Given the description of an element on the screen output the (x, y) to click on. 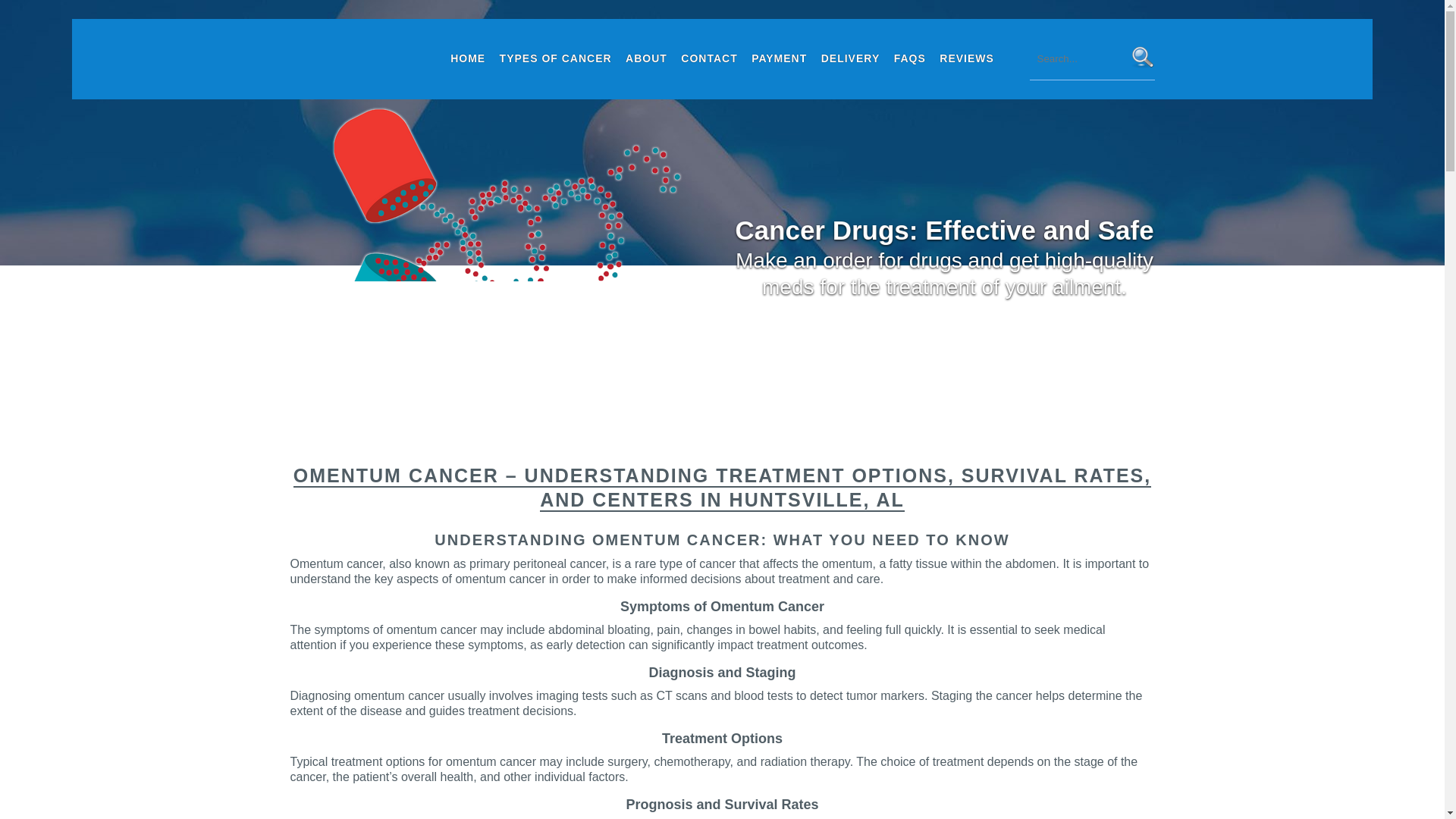
REVIEWS (966, 58)
PAYMENT (778, 58)
HOME (467, 58)
DELIVERY (850, 58)
TYPES OF CANCER (556, 58)
FAQS (909, 58)
CONTACT (708, 58)
ABOUT (646, 58)
